Given the description of an element on the screen output the (x, y) to click on. 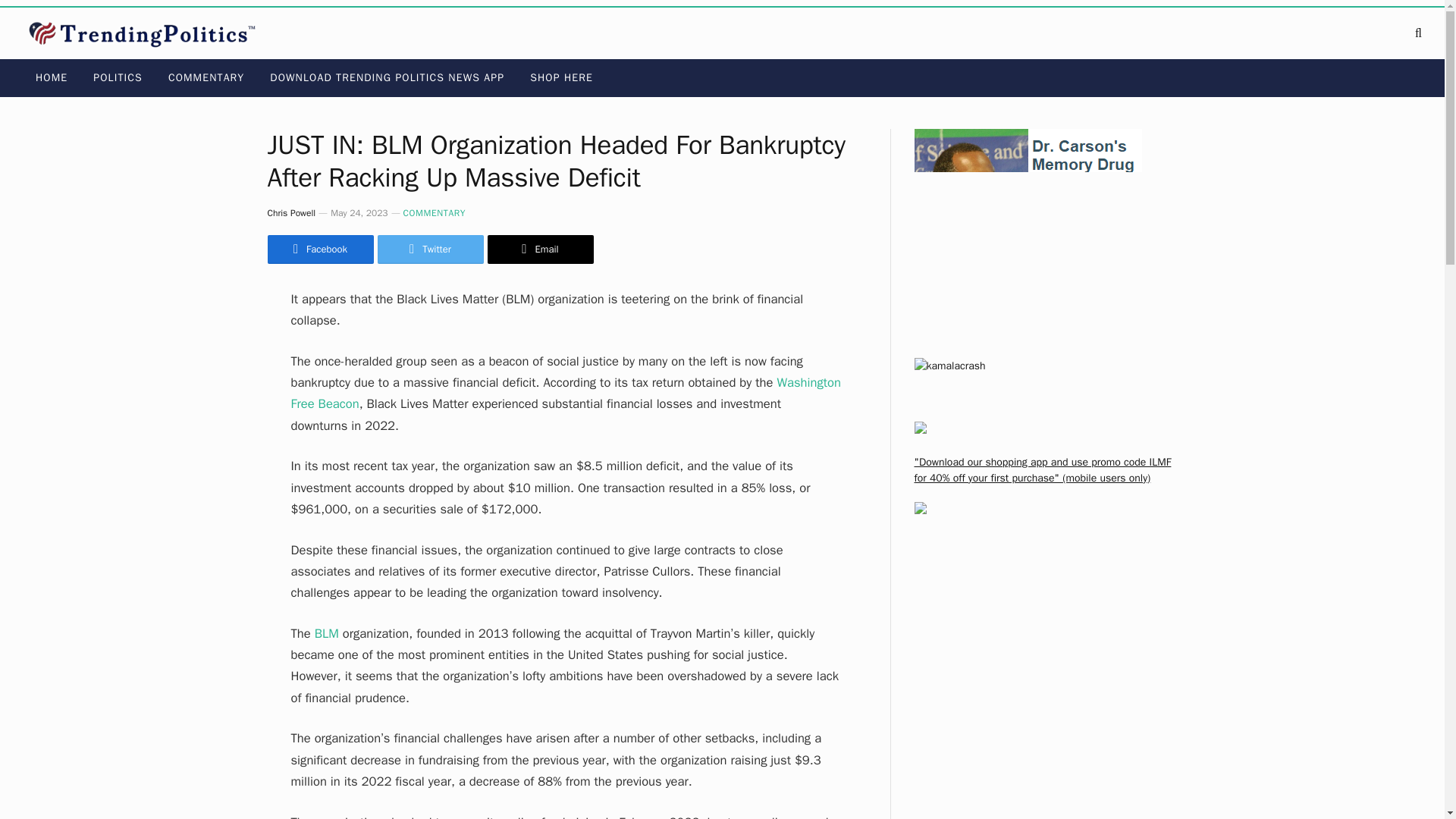
COMMENTARY (206, 77)
Chris Powell (290, 213)
Posts by Chris Powell (290, 213)
HOME (51, 77)
SHOP HERE (560, 77)
BLM (326, 633)
Trending Politics Conservative News and Commentary (145, 32)
Facebook (319, 249)
Washington Free Beacon (566, 392)
Share on Facebook (319, 249)
